Given the description of an element on the screen output the (x, y) to click on. 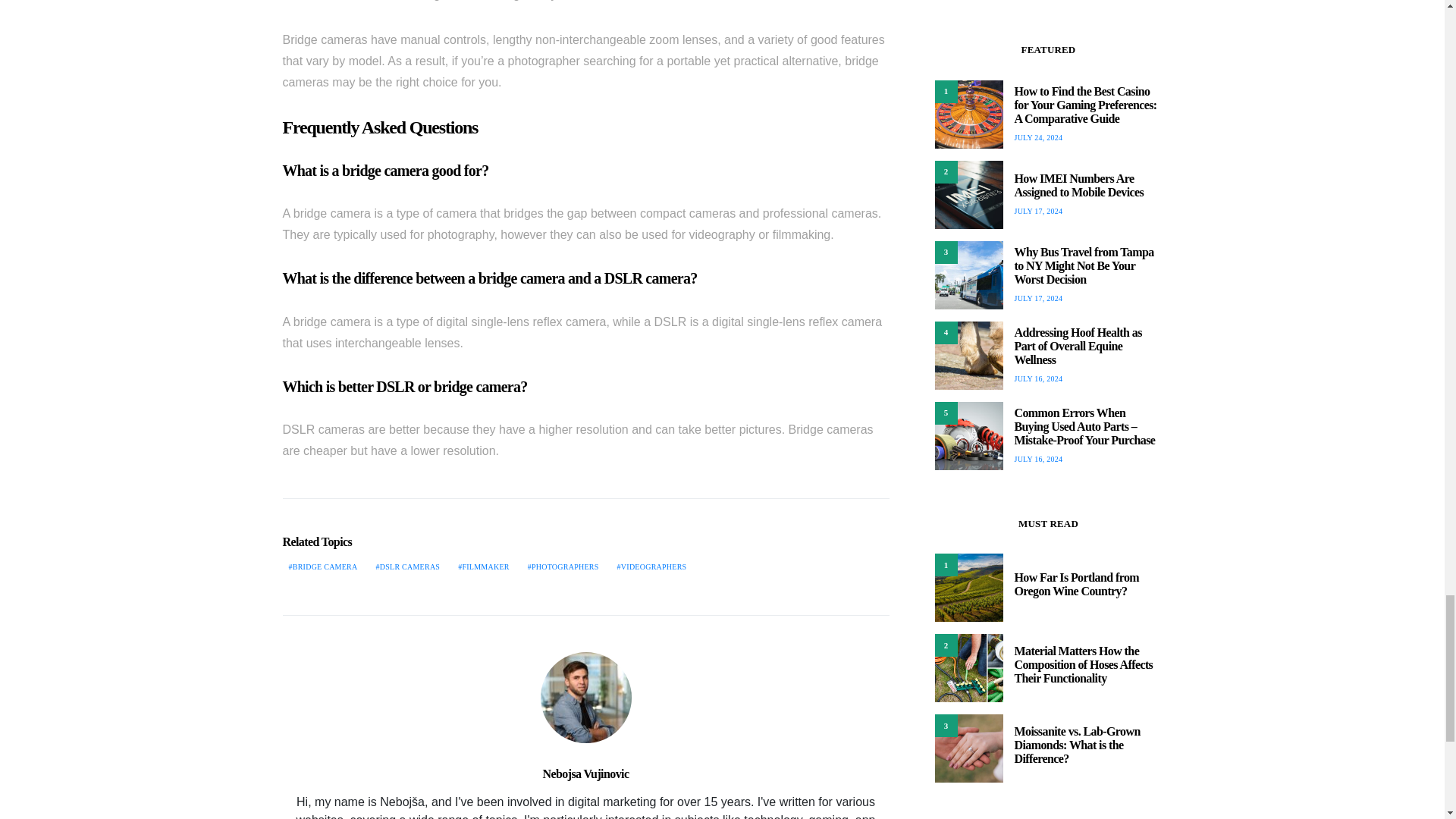
DSLR CAMERAS (407, 566)
BRIDGE CAMERA (322, 566)
FILMMAKER (483, 566)
VIDEOGRAPHERS (652, 566)
Nebojsa Vujinovic (585, 773)
PHOTOGRAPHERS (563, 566)
